Given the description of an element on the screen output the (x, y) to click on. 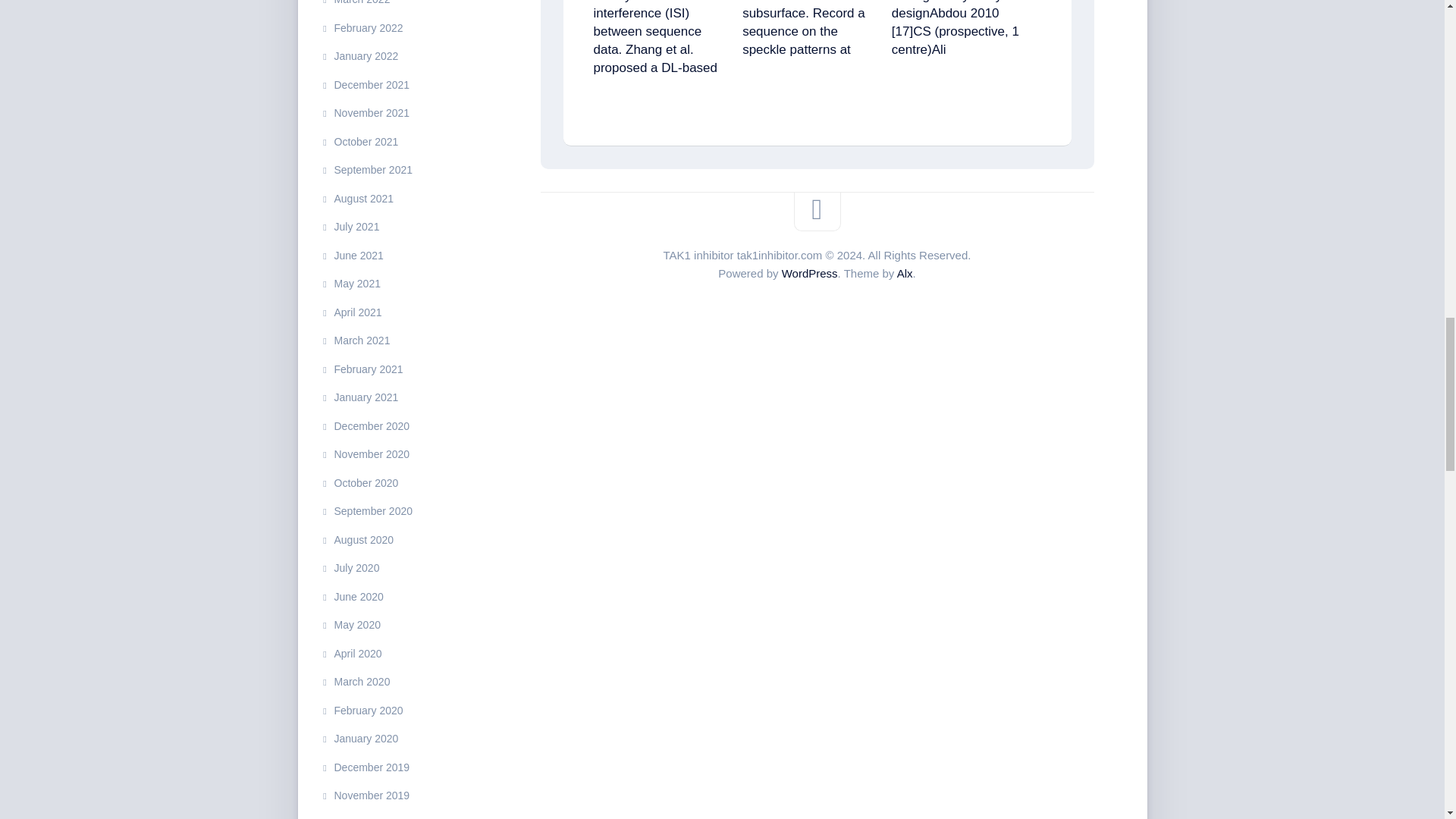
February 2022 (361, 28)
December 2021 (364, 84)
March 2022 (355, 2)
January 2022 (358, 55)
